Given the description of an element on the screen output the (x, y) to click on. 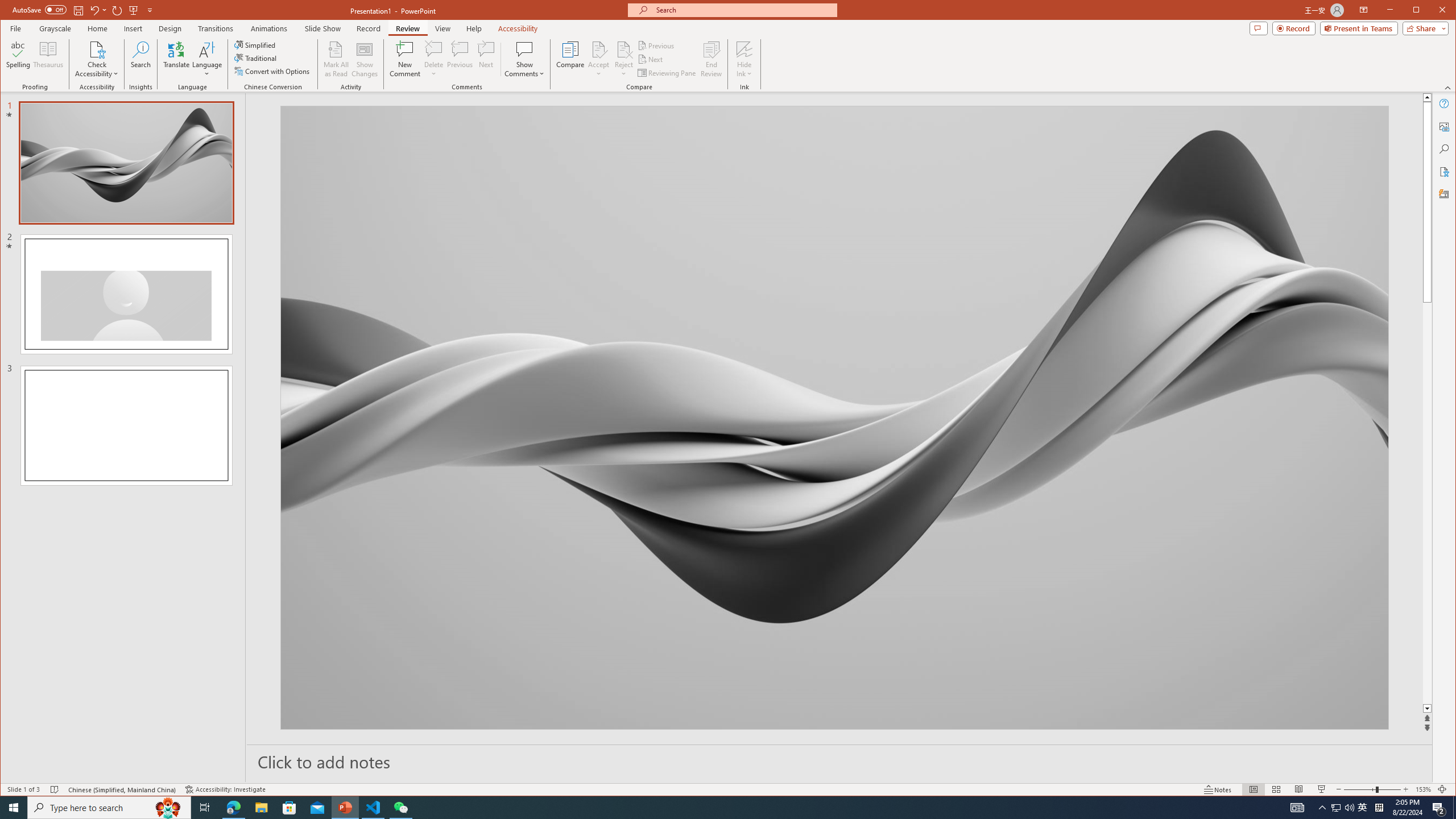
Mark All as Read (335, 59)
